Given the description of an element on the screen output the (x, y) to click on. 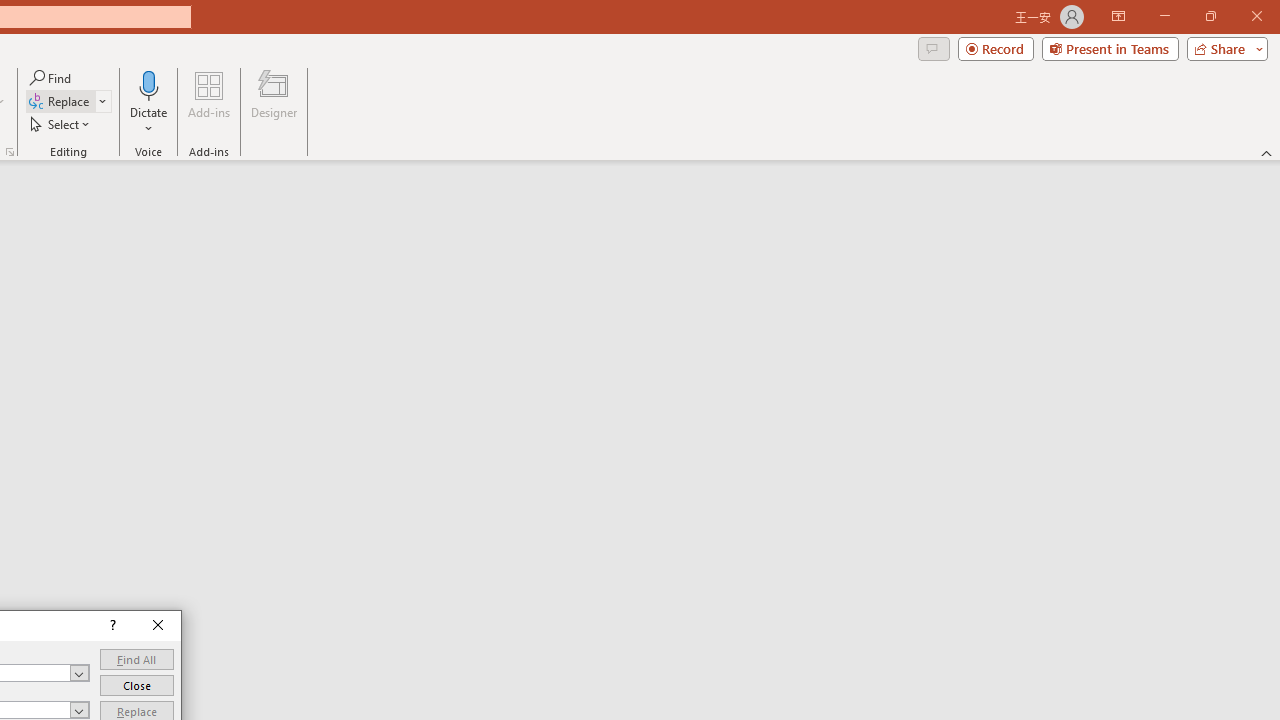
Context help (111, 625)
Find All (136, 659)
